Given the description of an element on the screen output the (x, y) to click on. 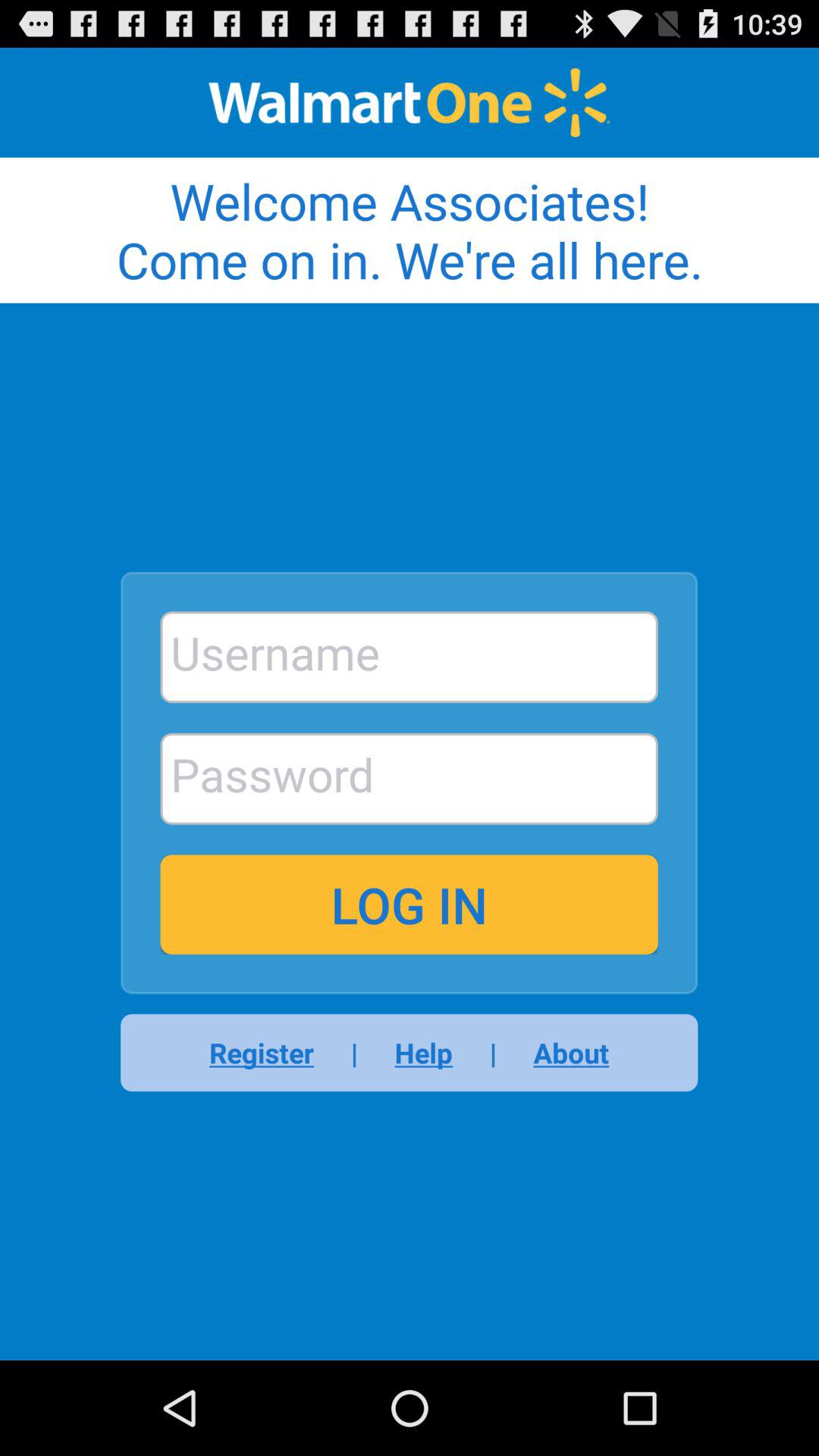
swipe until help  icon (423, 1052)
